Given the description of an element on the screen output the (x, y) to click on. 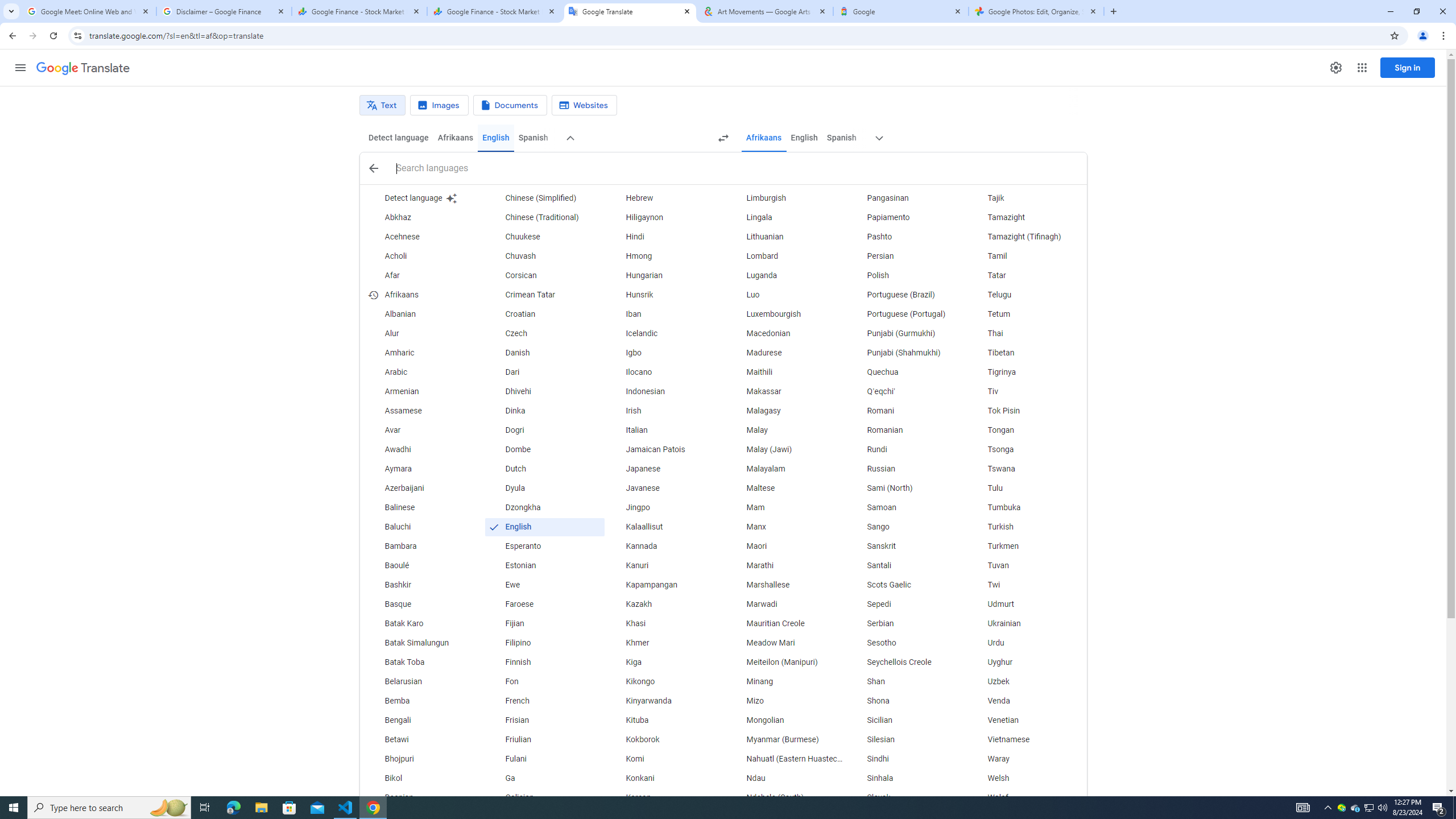
Ukrainian (1026, 624)
Batak Karo (423, 624)
Marshallese (785, 584)
Seychellois Creole (905, 662)
Ndau (785, 778)
Kalaallisut (665, 527)
Silesian (905, 739)
Fijian (544, 624)
Sinhala (905, 778)
Thai (1026, 334)
Dogri (544, 430)
Avar (423, 430)
Afar (423, 275)
Hunsrik (665, 294)
